Given the description of an element on the screen output the (x, y) to click on. 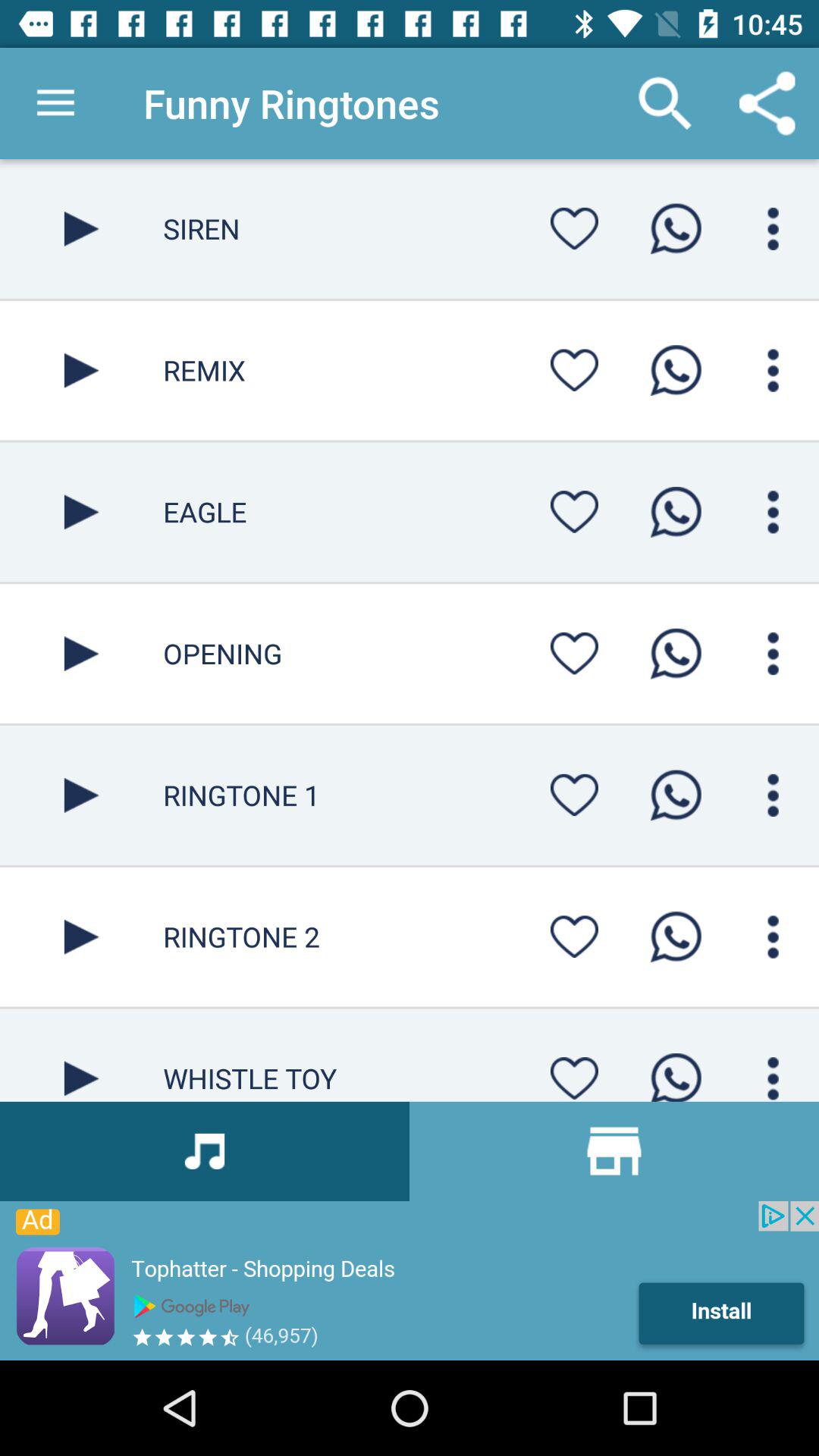
menu (773, 370)
